Given the description of an element on the screen output the (x, y) to click on. 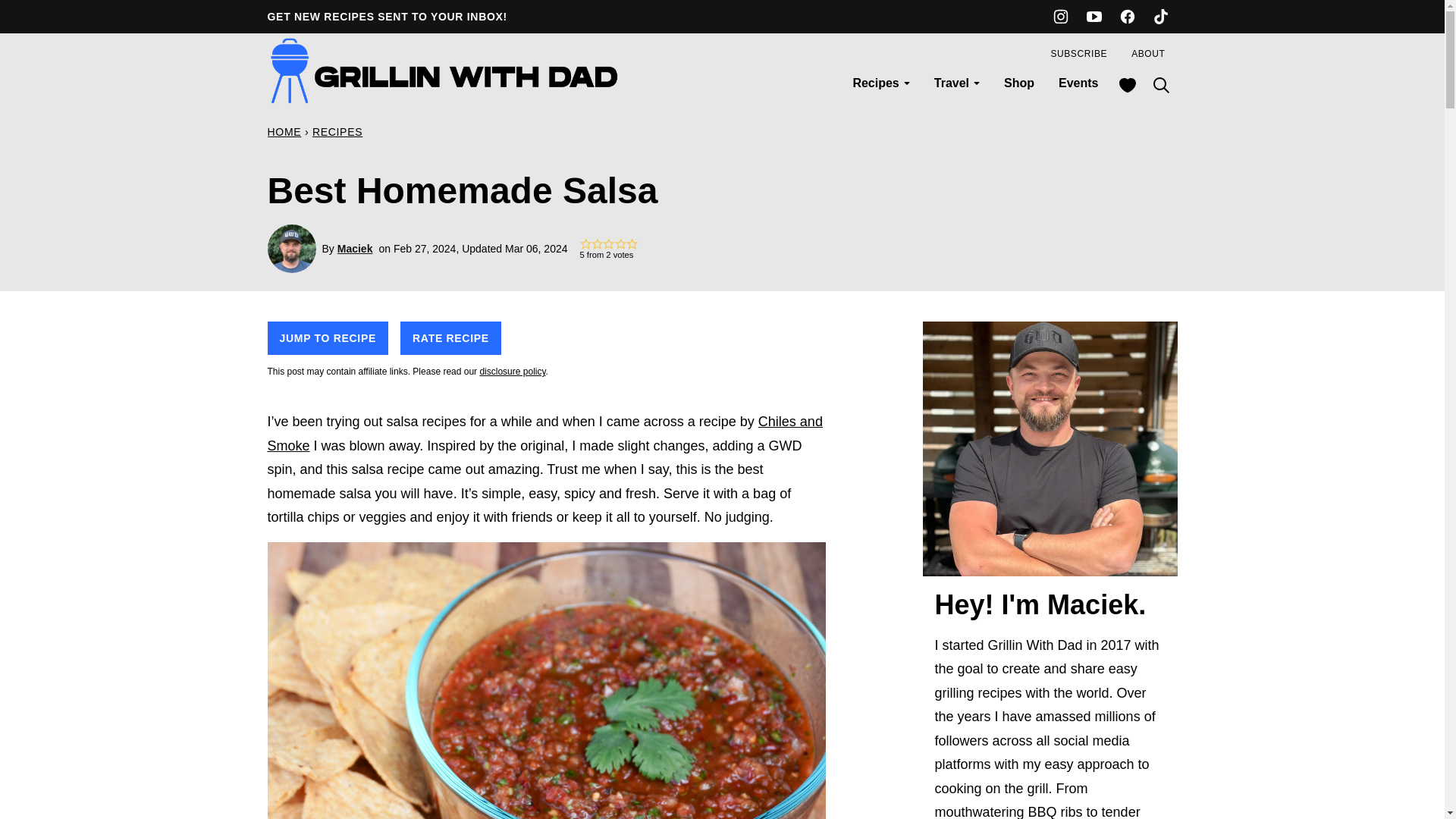
disclosure policy (511, 371)
Travel (956, 82)
RECIPES (337, 132)
Recipes (880, 82)
Events (1077, 82)
ABOUT (1147, 53)
RATE RECIPE (450, 337)
JUMP TO RECIPE (327, 337)
Shop (1018, 82)
GET NEW RECIPES SENT TO YOUR INBOX! (386, 16)
